Given the description of an element on the screen output the (x, y) to click on. 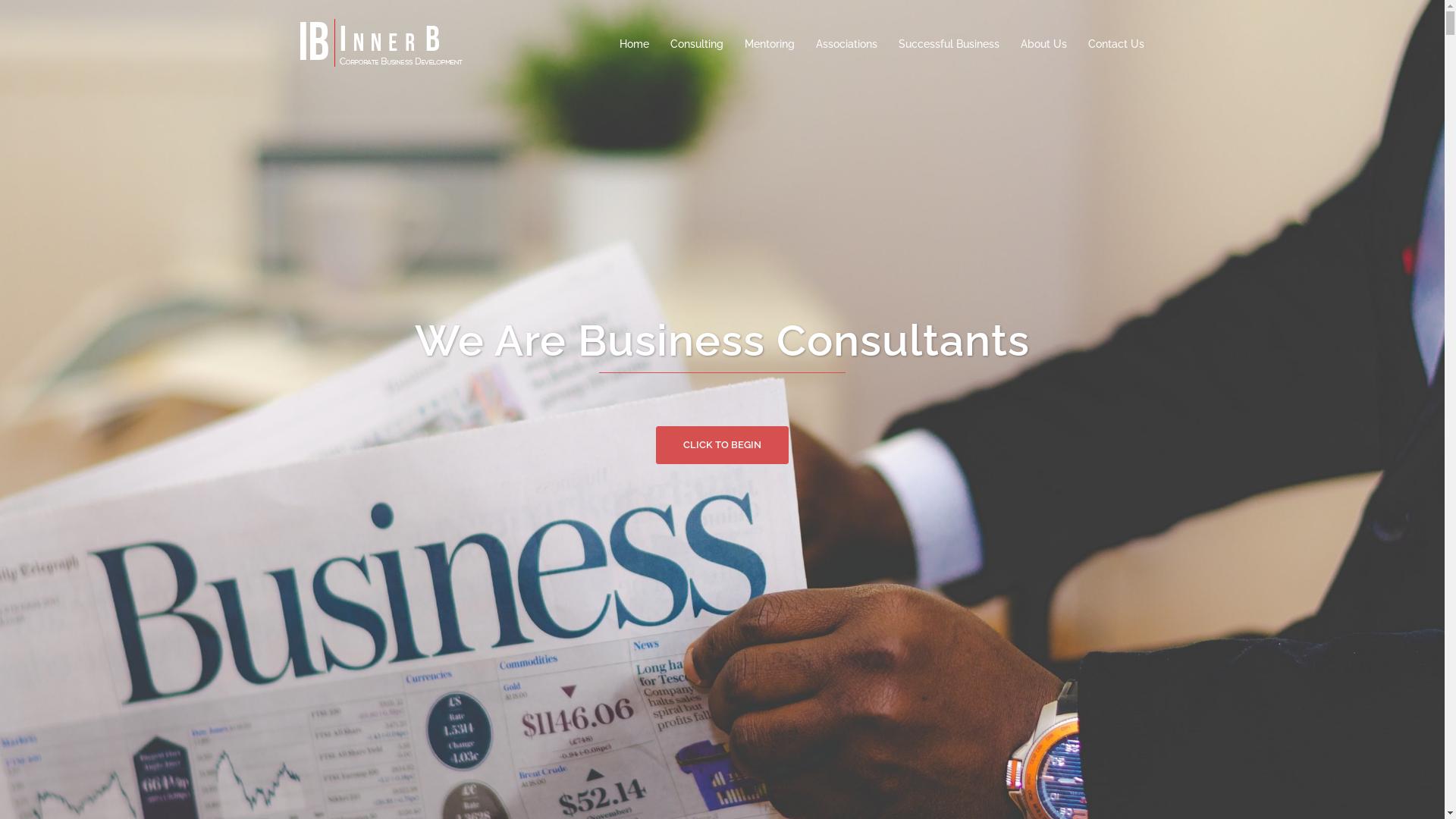
Mentoring Element type: text (769, 44)
Associations Element type: text (846, 44)
Inner B Element type: hover (382, 42)
Consulting Element type: text (696, 44)
CLICK TO BEGIN Element type: text (721, 475)
Home Element type: text (633, 44)
Successful Business Element type: text (947, 44)
Contact Us Element type: text (1115, 44)
About Us Element type: text (1043, 44)
Search Element type: text (46, 18)
